Given the description of an element on the screen output the (x, y) to click on. 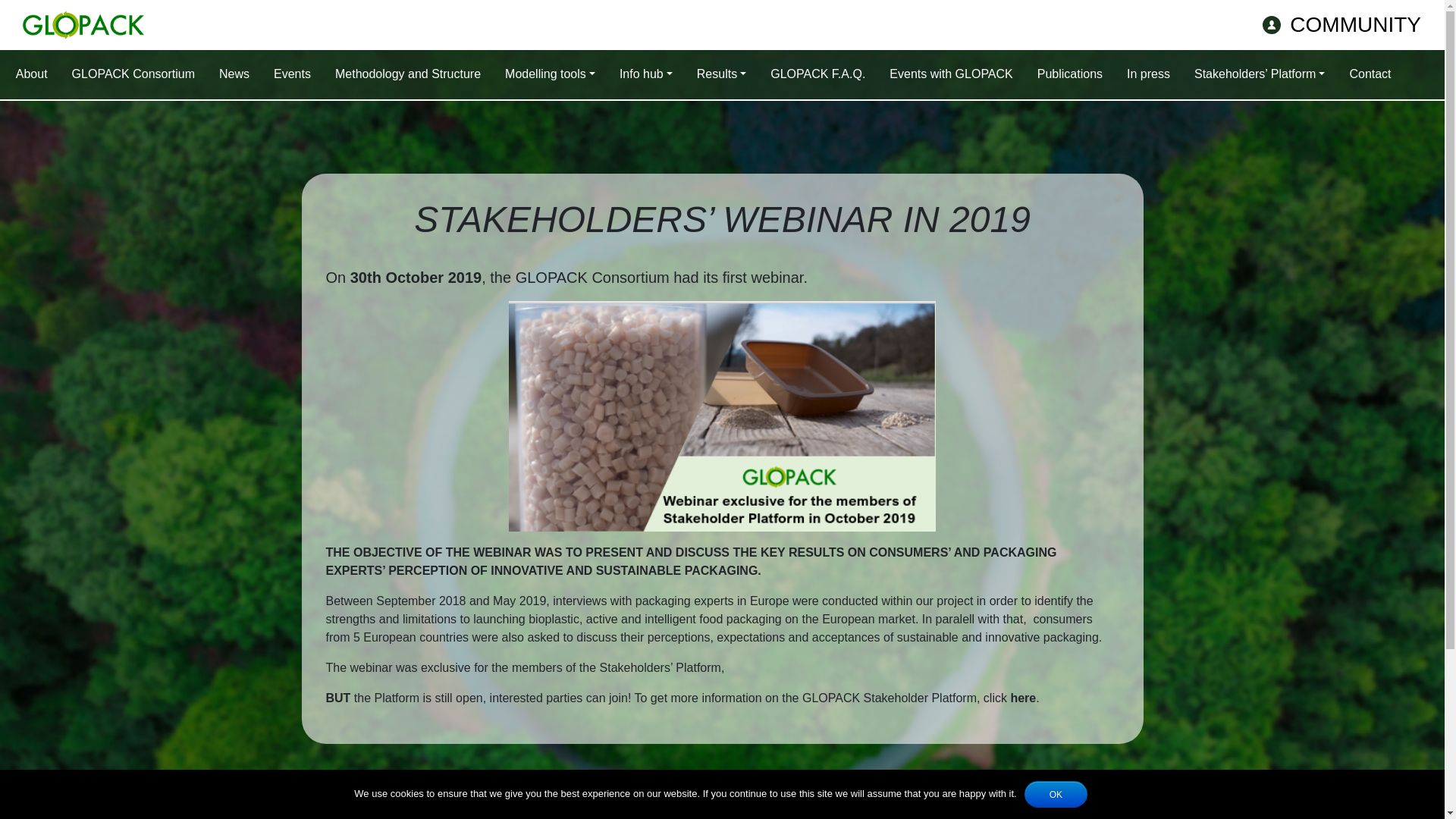
Results (721, 73)
COMMUNITY (1335, 23)
here (1022, 697)
Publications (1069, 73)
Info hub (645, 73)
GLOPACK Consortium (132, 73)
Methodology and Structure (407, 73)
In press (1148, 73)
About (31, 73)
Modelling tools (550, 73)
Modelling tools (550, 73)
GLOPACK F.A.Q. (817, 73)
Results (721, 73)
News (234, 73)
News (234, 73)
